Given the description of an element on the screen output the (x, y) to click on. 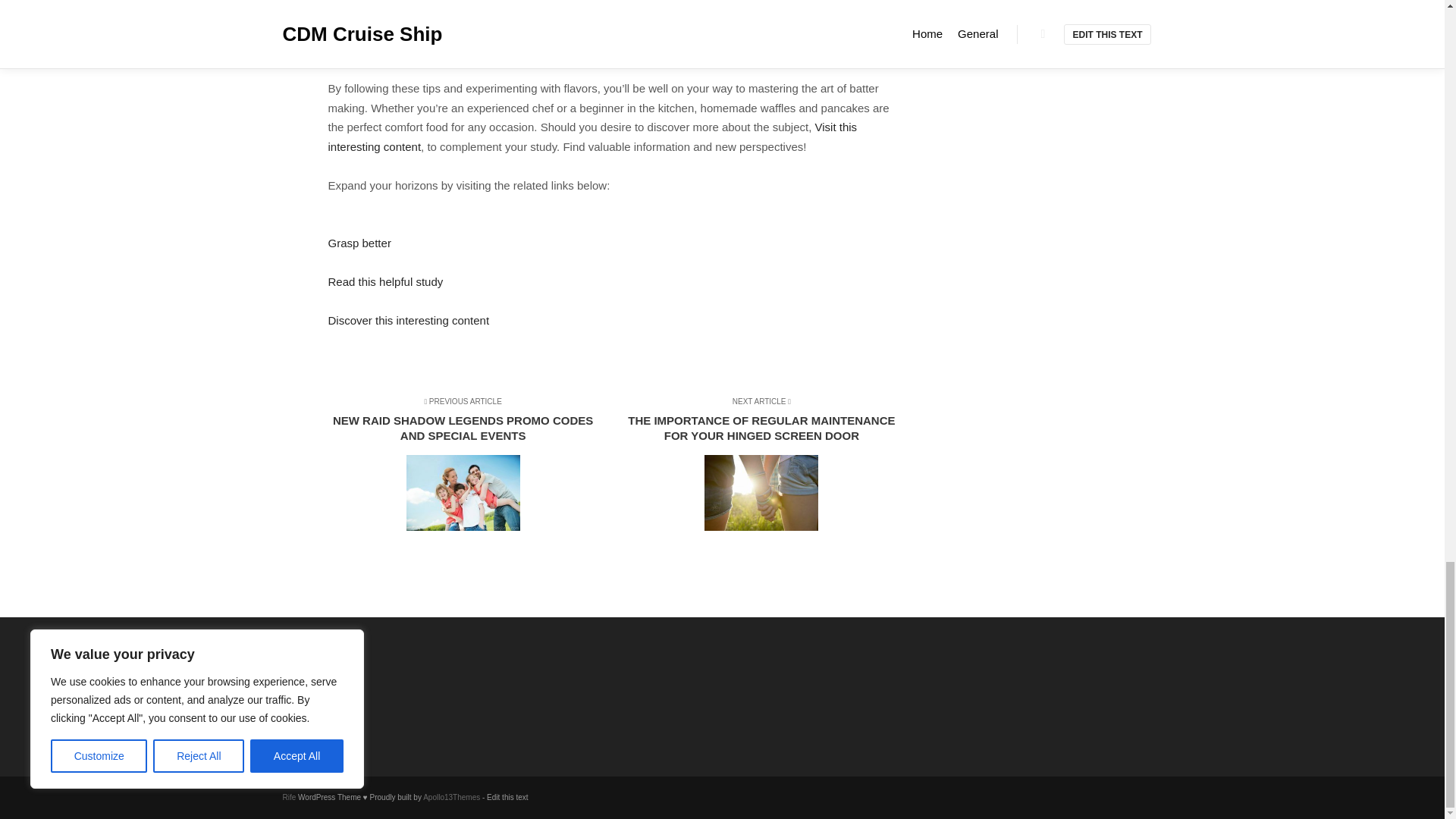
Discover this interesting content (408, 319)
Visit this interesting content (592, 136)
Grasp better (358, 242)
Read this helpful study (384, 281)
